Given the description of an element on the screen output the (x, y) to click on. 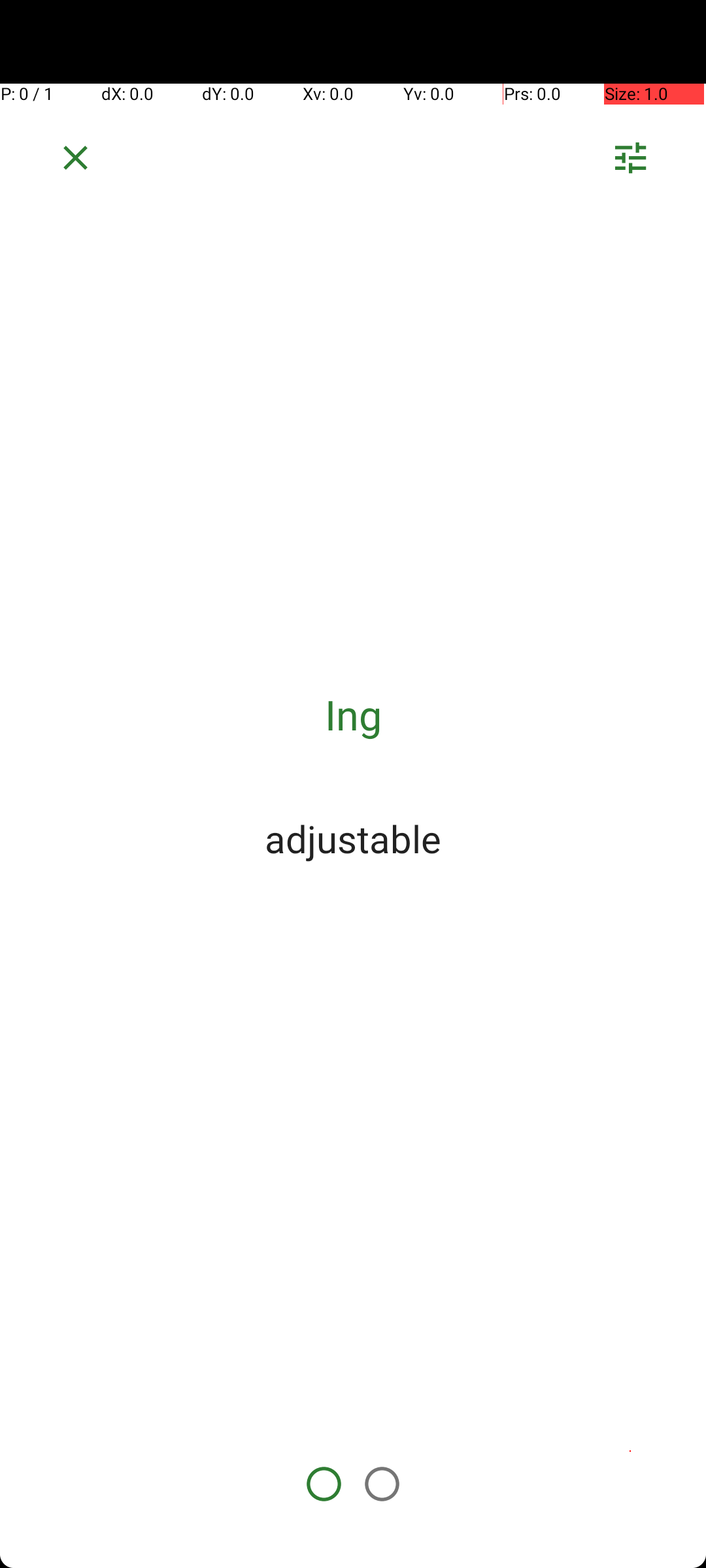
adjustable Element type: android.widget.TextView (352, 838)
